Given the description of an element on the screen output the (x, y) to click on. 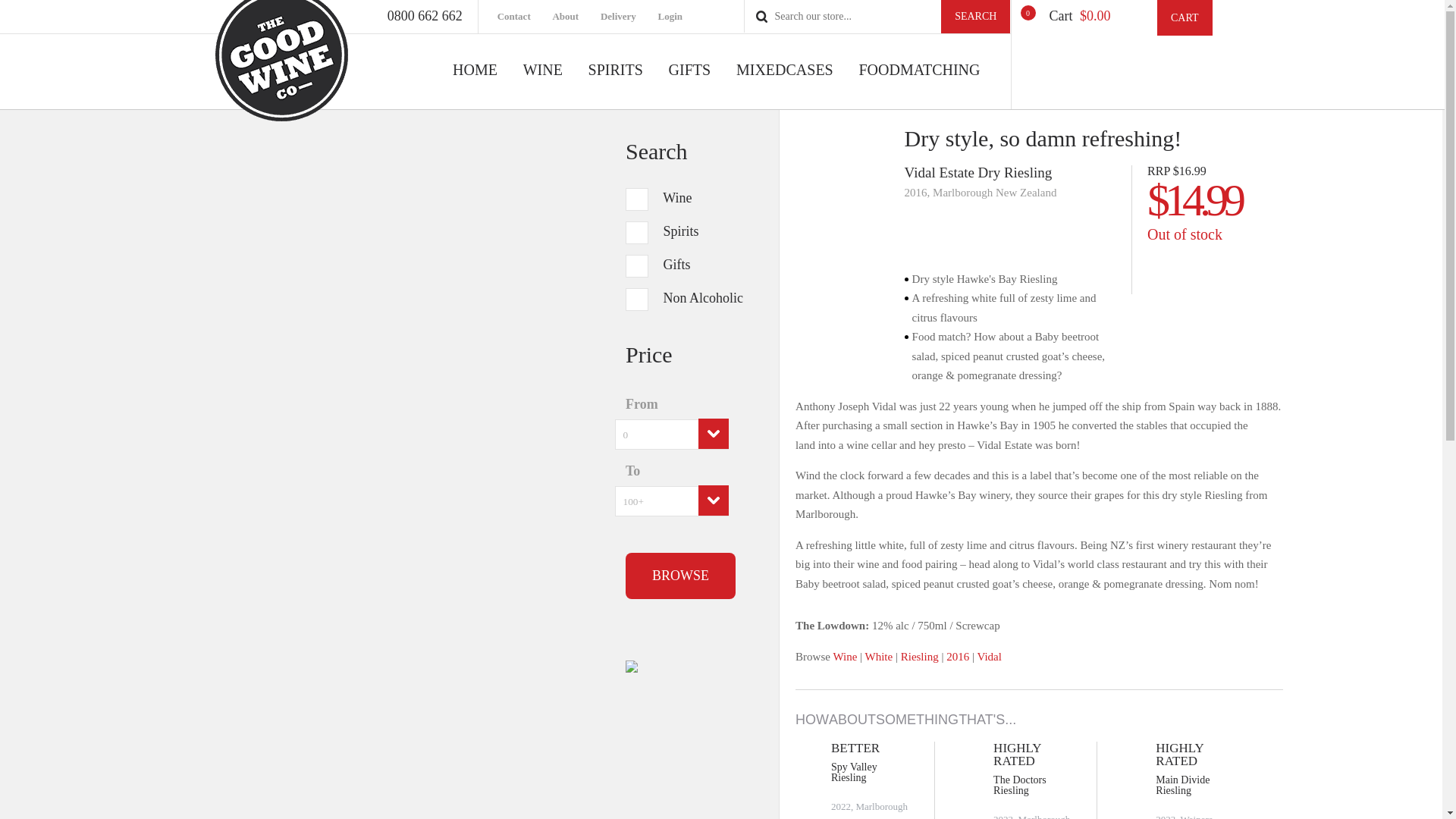
Search (975, 16)
MIXEDCASES (784, 86)
CART (1184, 18)
Login (679, 16)
Browse (680, 575)
HOME (474, 86)
Contact (523, 16)
Browse (680, 575)
Delivery (627, 16)
SPIRITS (615, 86)
